Given the description of an element on the screen output the (x, y) to click on. 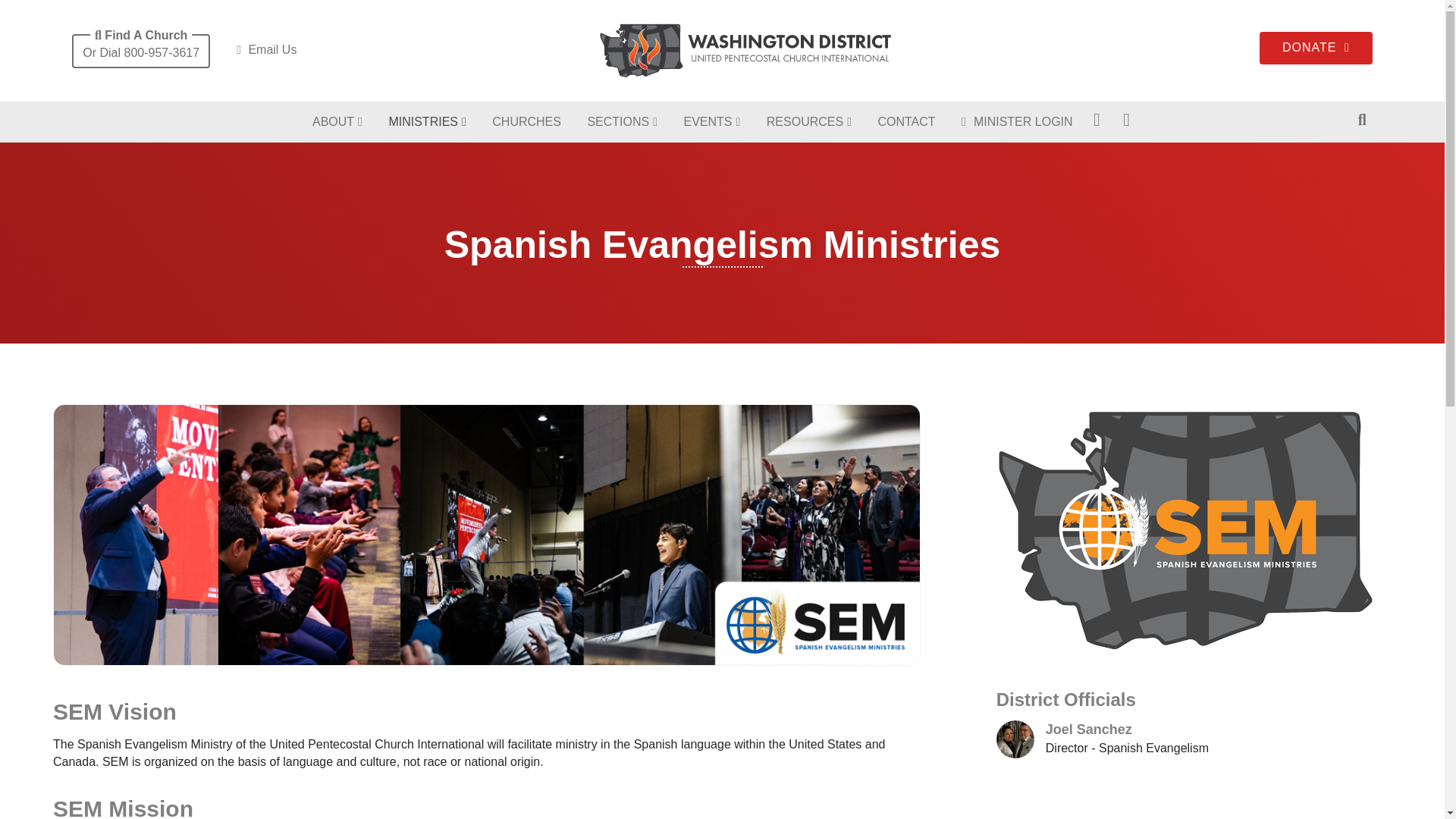
ABOUT (337, 122)
MINISTRIES (427, 122)
EVENTS (711, 122)
MINISTER LOGIN (1017, 121)
RESOURCES (809, 122)
SECTIONS (621, 122)
sem-logo-large (1185, 530)
CONTACT (906, 121)
CHURCHES (526, 121)
